Given the description of an element on the screen output the (x, y) to click on. 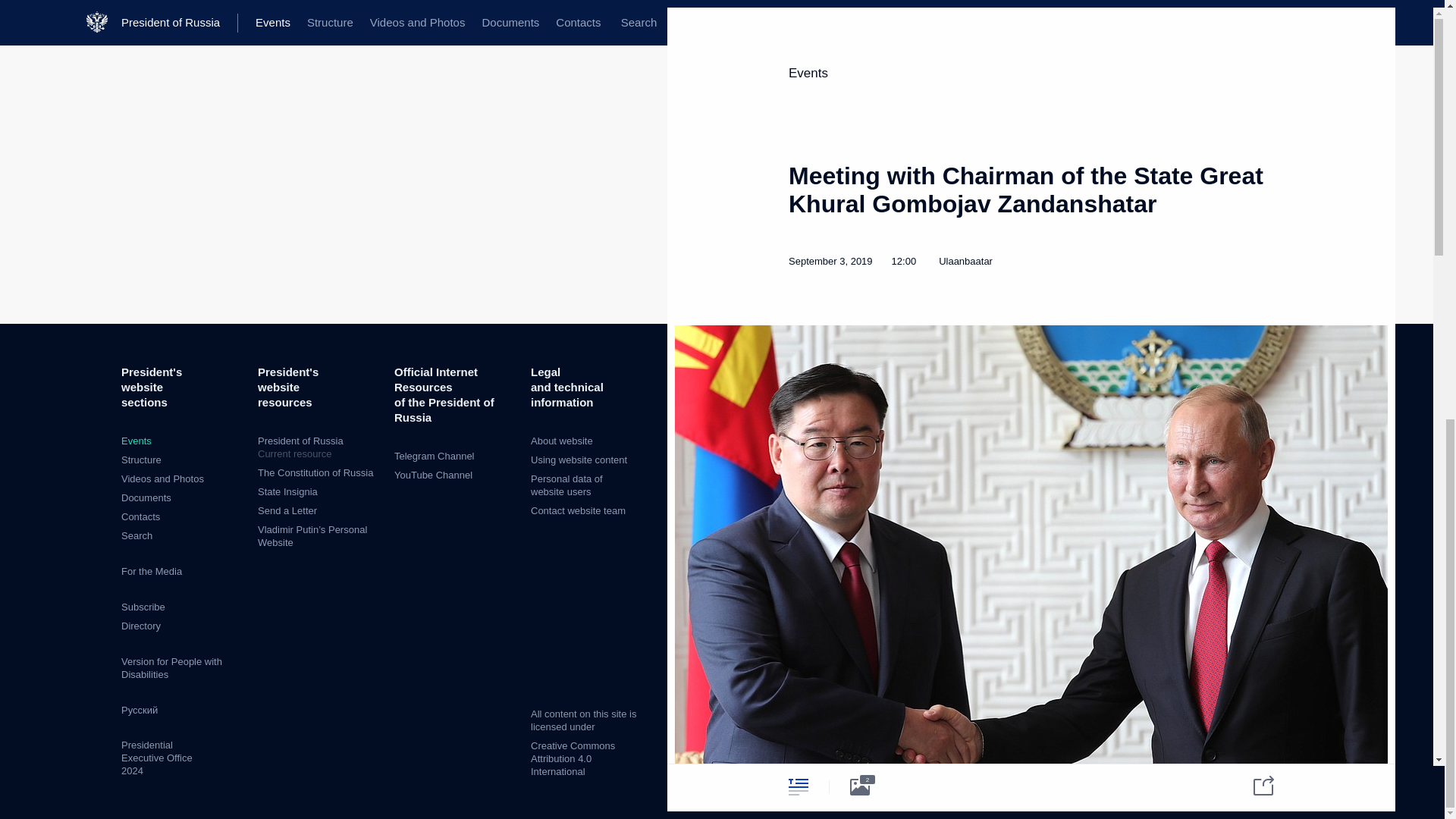
For the Media (151, 571)
YouTube Channel (432, 474)
Creative Commons Attribution 4.0 International (572, 758)
Subscribe (142, 606)
State Insignia (287, 491)
Using website content (579, 460)
Send a Letter (287, 510)
Documents (145, 497)
Directory (140, 625)
Personal data of website users (566, 485)
